Given the description of an element on the screen output the (x, y) to click on. 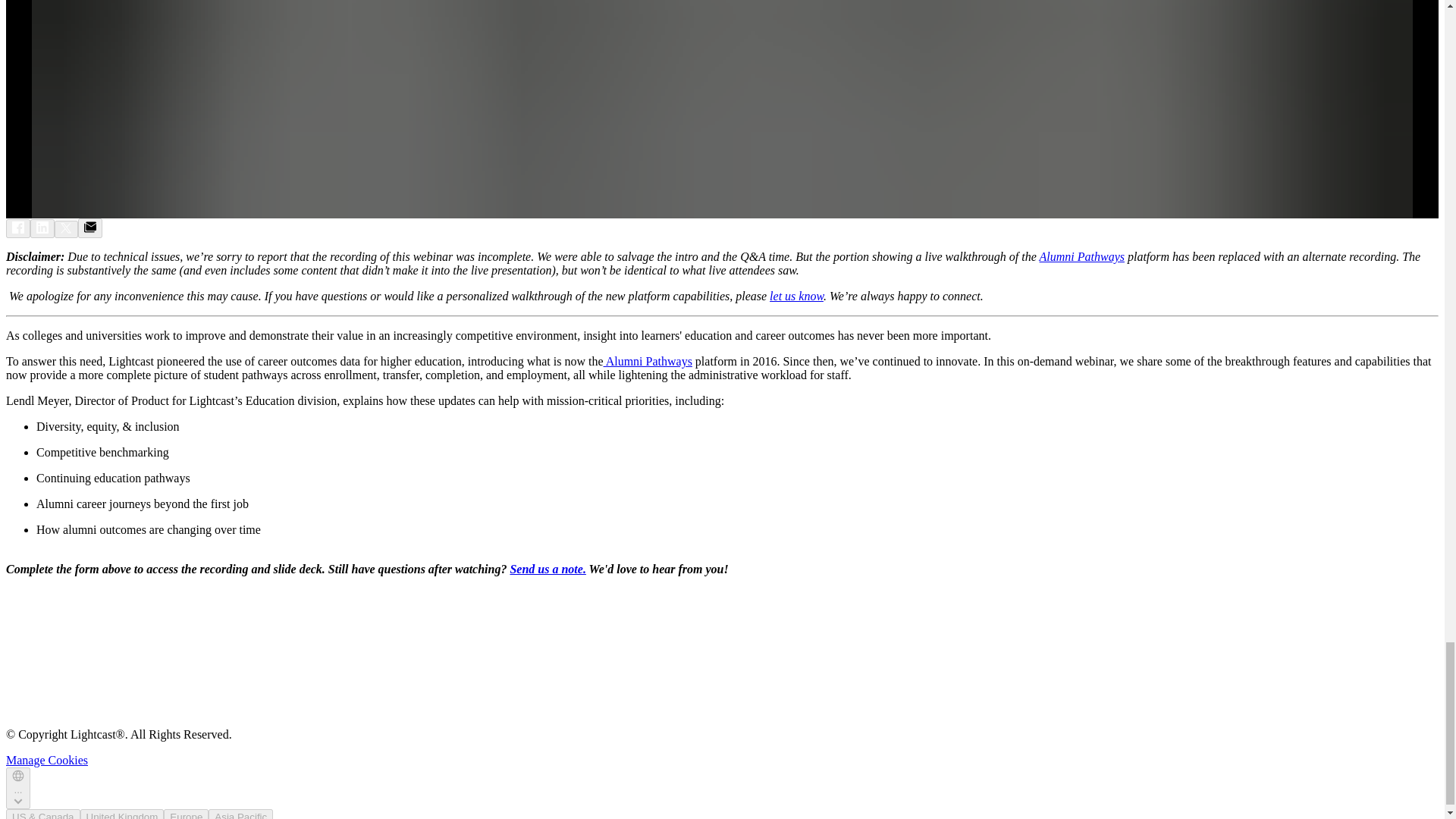
Alumni Pathways (1081, 256)
Manage Cookies (46, 759)
Alumni Pathways (648, 360)
Send us a note. (547, 568)
let us know (797, 295)
